Given the description of an element on the screen output the (x, y) to click on. 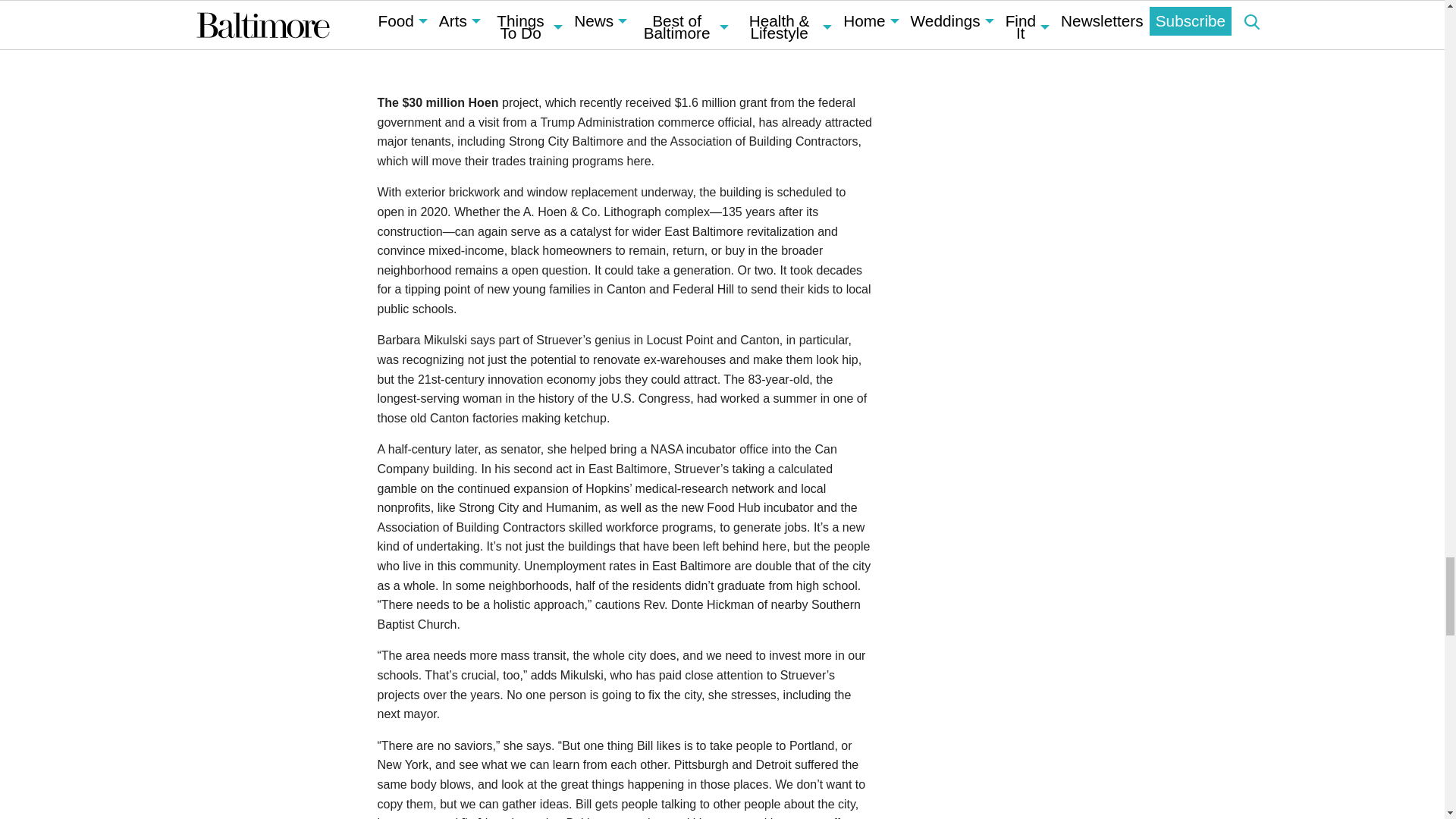
Ua August 2013 1 (624, 33)
